Given the description of an element on the screen output the (x, y) to click on. 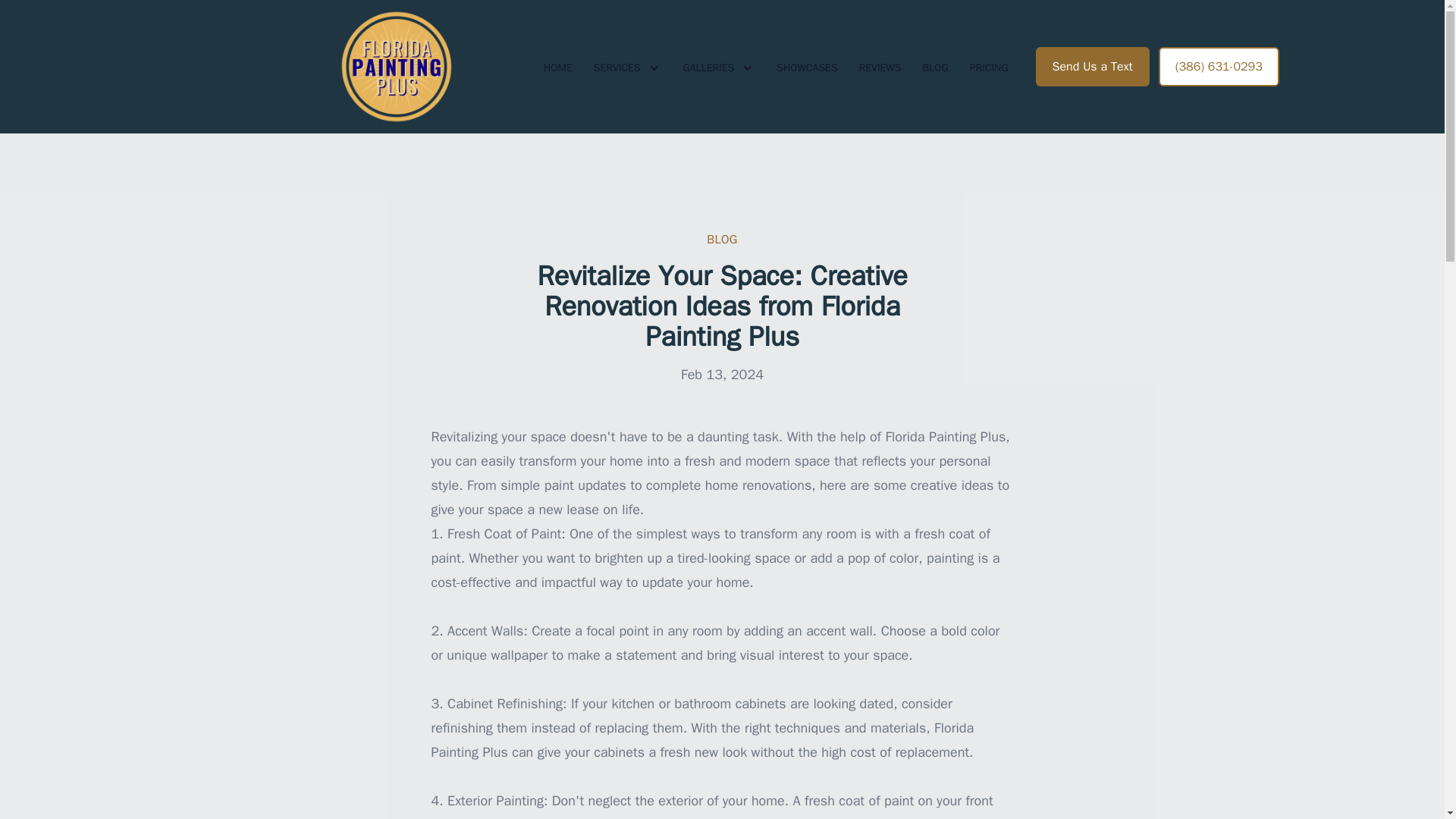
REVIEWS (880, 66)
GALLERIES (718, 66)
PRICING (988, 66)
SERVICES (628, 66)
Send Us a Text (1092, 66)
SHOWCASES (806, 66)
